Given the description of an element on the screen output the (x, y) to click on. 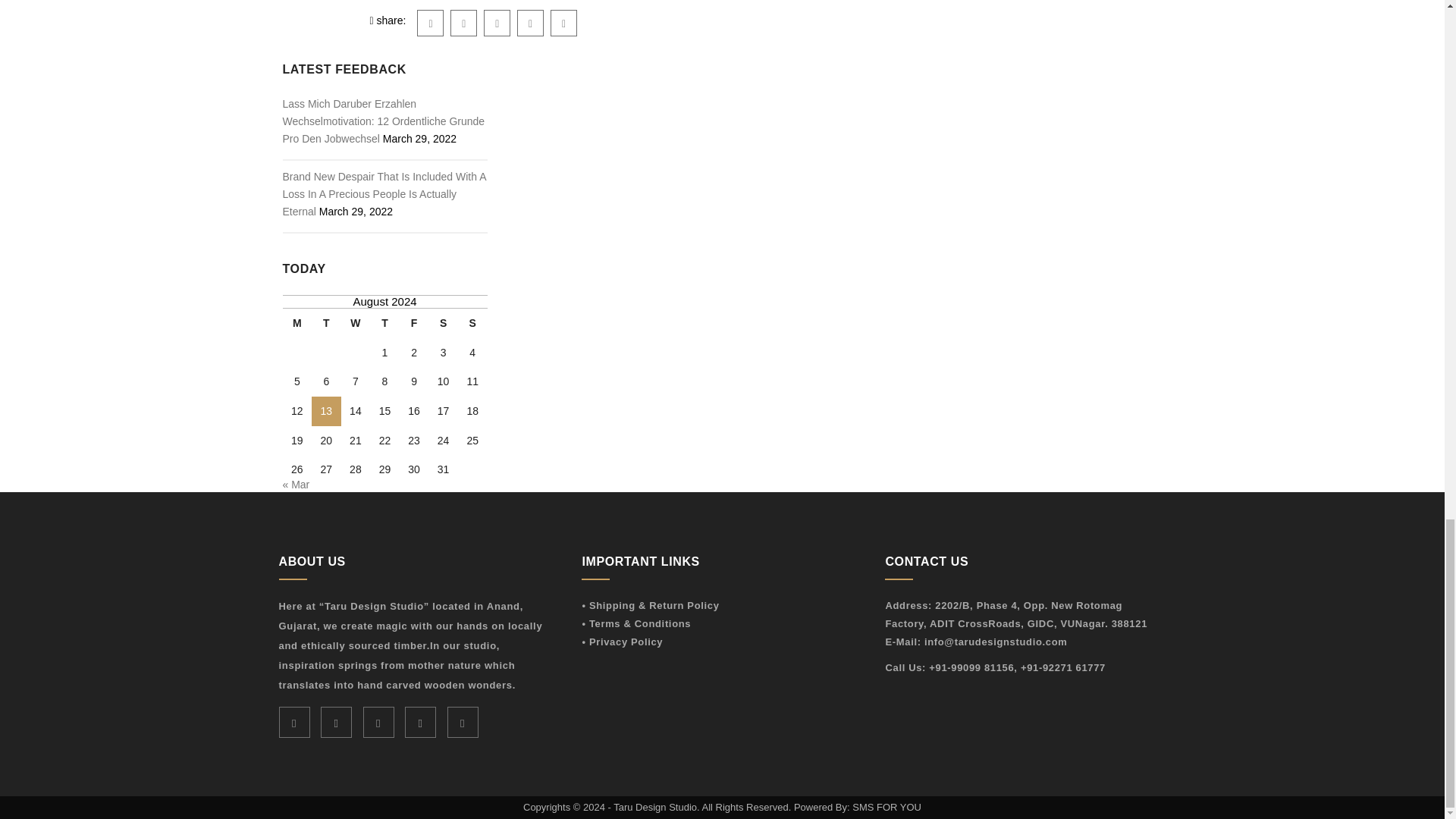
Saturday (443, 323)
Wednesday (355, 323)
Monday (296, 323)
Sunday (472, 323)
Tuesday (325, 323)
Friday (413, 323)
Thursday (383, 323)
